Given the description of an element on the screen output the (x, y) to click on. 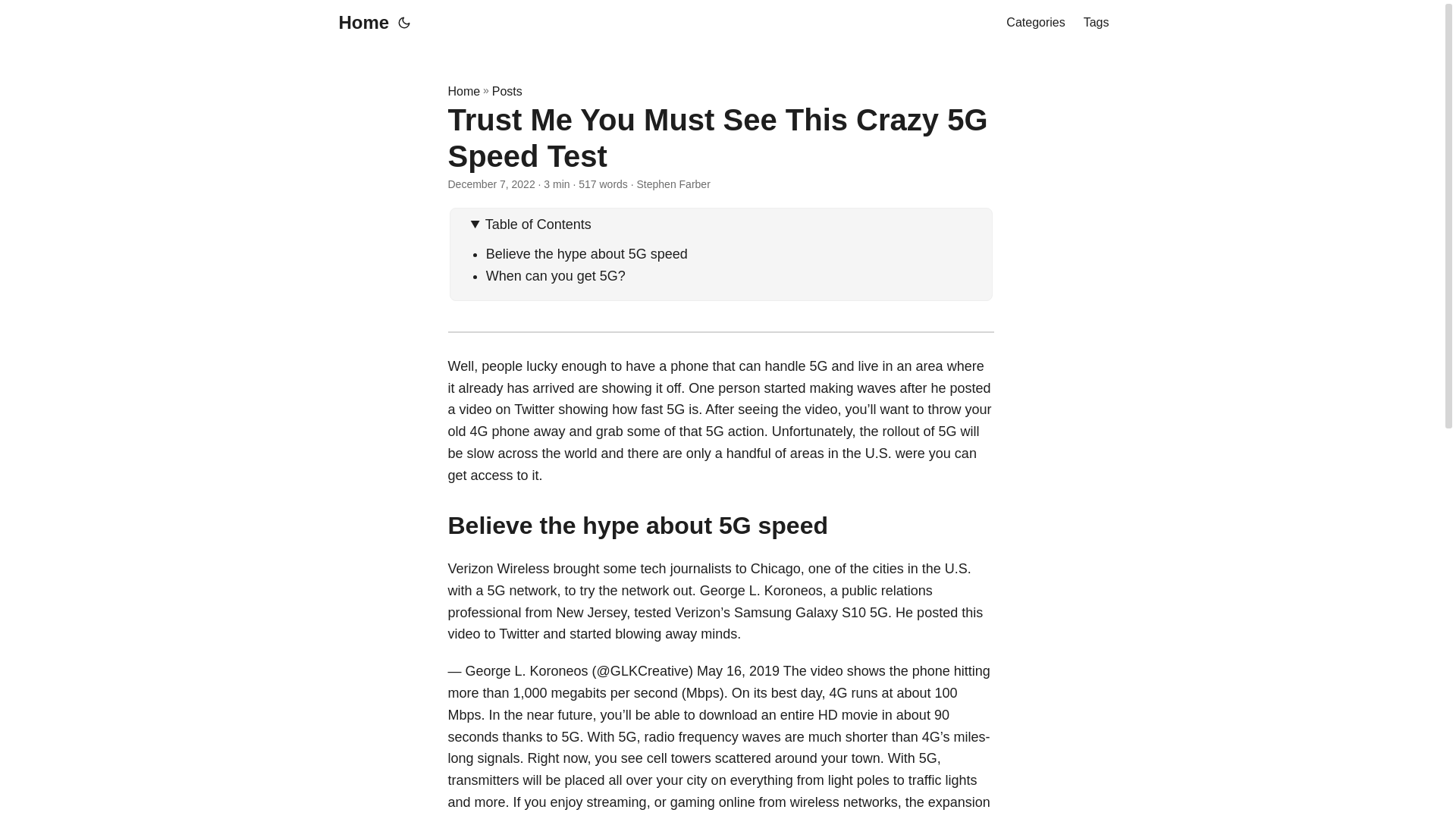
Categories (1035, 22)
Posts (507, 91)
When can you get 5G? (556, 275)
Categories (1035, 22)
Home (463, 91)
Believe the hype about 5G speed (586, 253)
Home (359, 22)
